Given the description of an element on the screen output the (x, y) to click on. 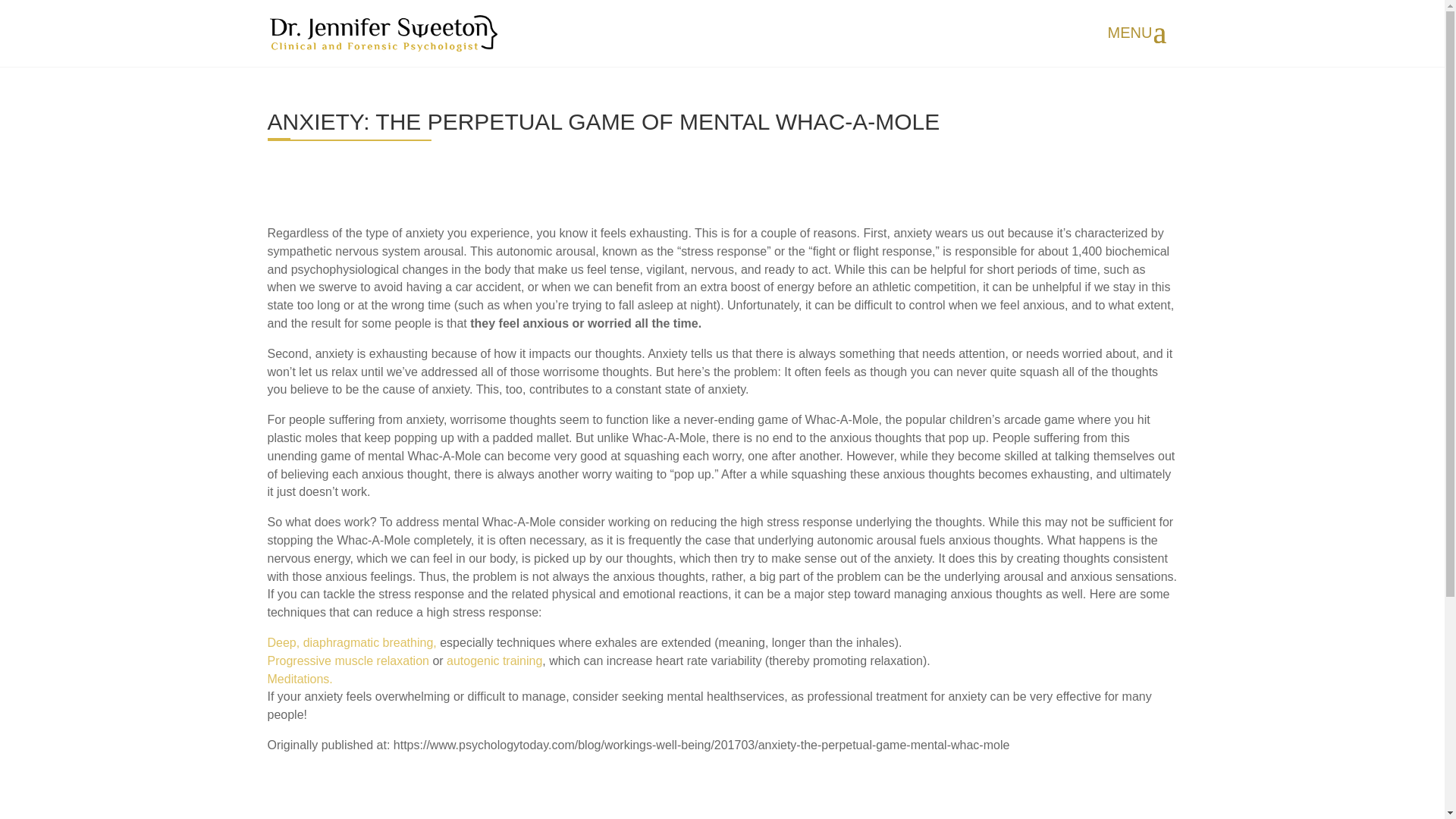
Progressive muscle relaxation (349, 660)
Deep, diaphragmatic breathing, (352, 642)
Meditations. (298, 678)
autogenic training (493, 660)
